Given the description of an element on the screen output the (x, y) to click on. 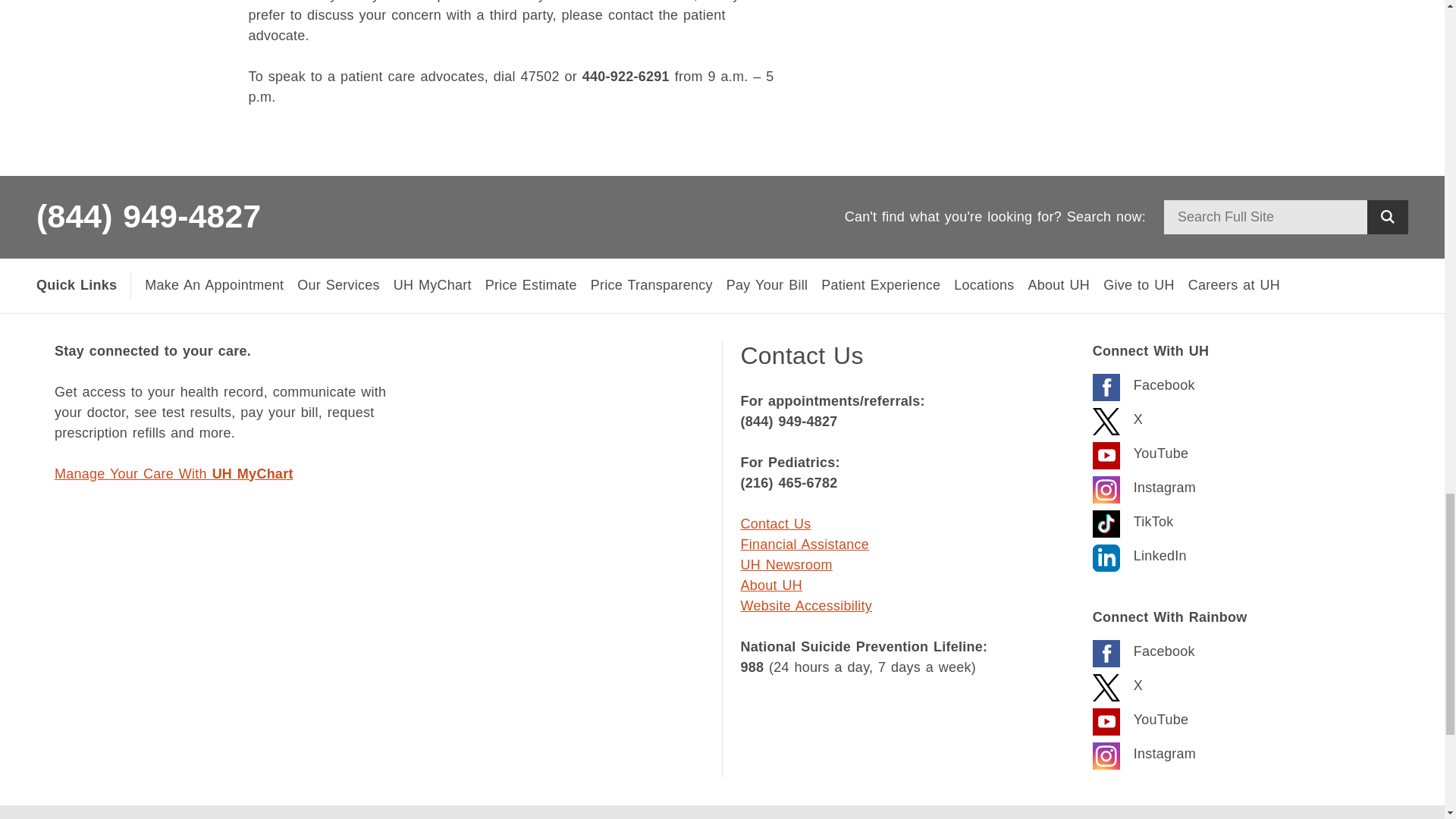
Search (1387, 216)
